Given the description of an element on the screen output the (x, y) to click on. 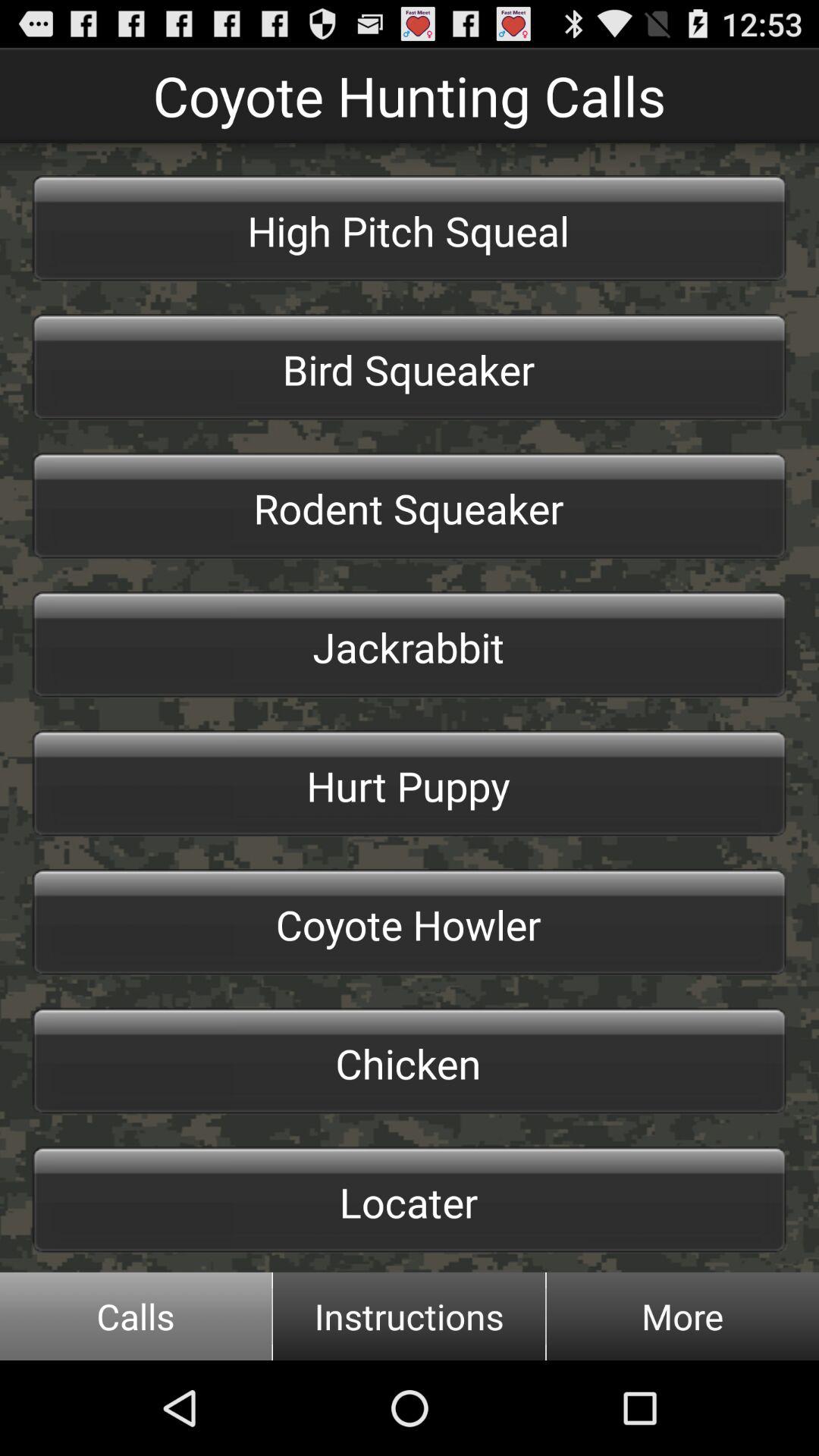
click item above coyote howler item (409, 783)
